Given the description of an element on the screen output the (x, y) to click on. 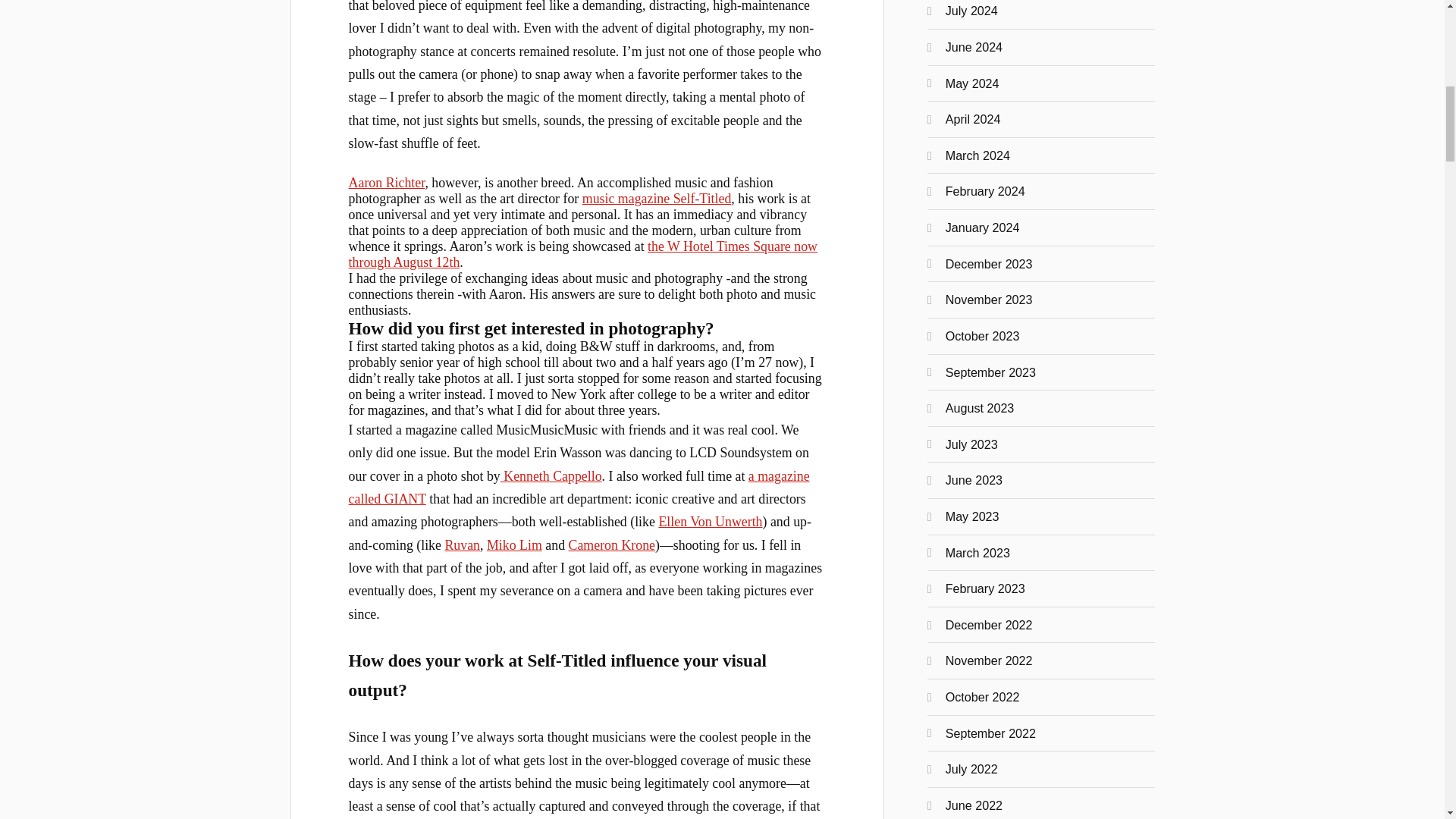
music magazine Self-Titled (657, 198)
Kenneth Cappello (551, 476)
Ruvan (462, 544)
Cameron Krone (612, 544)
Ellen Von Unwerth (709, 521)
Miko Lim (513, 544)
Aaron Richter (387, 182)
the W Hotel Times Square now through August 12th (582, 254)
a magazine called GIANT (579, 487)
